Given the description of an element on the screen output the (x, y) to click on. 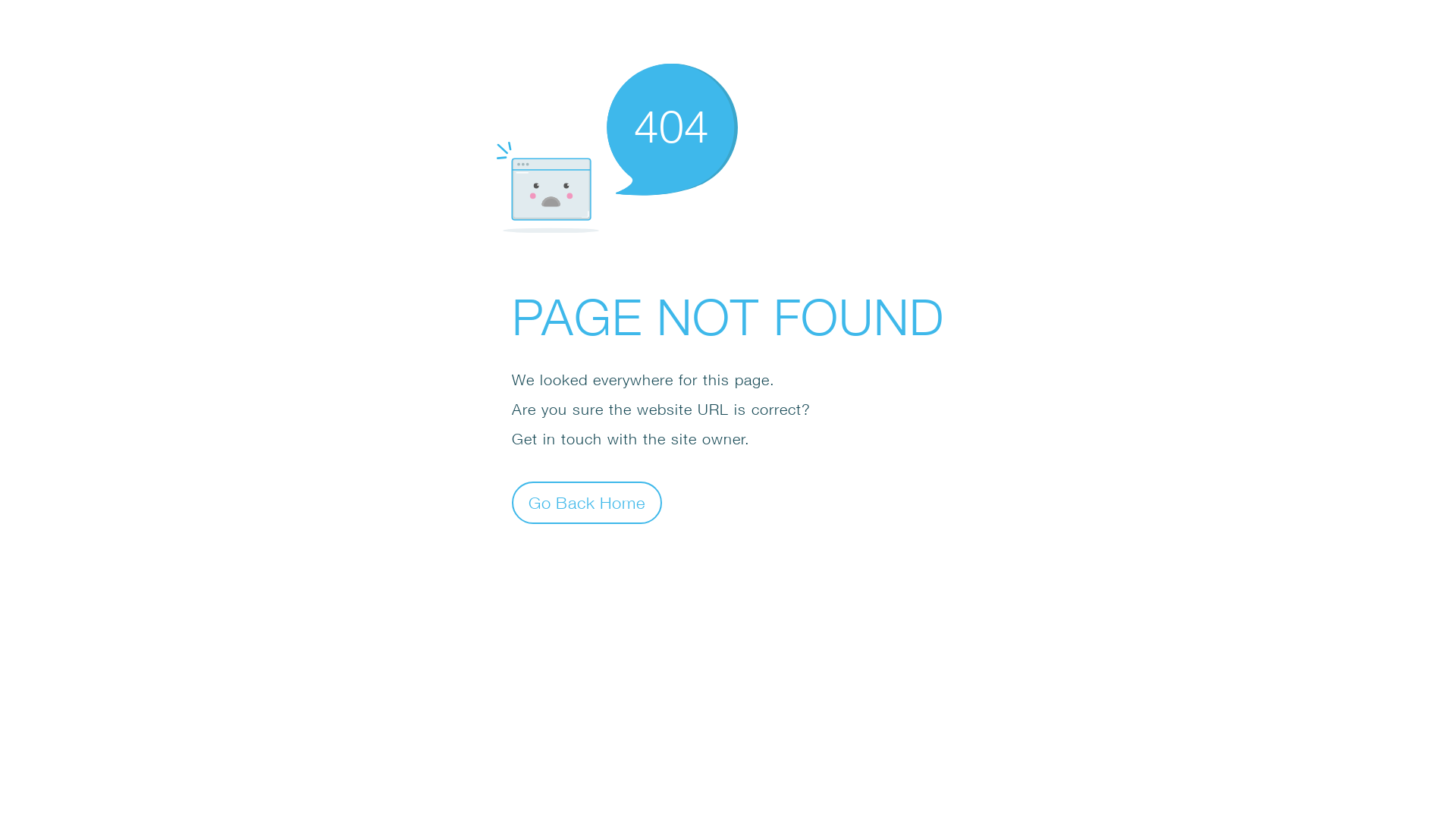
Go Back Home Element type: text (586, 502)
